Given the description of an element on the screen output the (x, y) to click on. 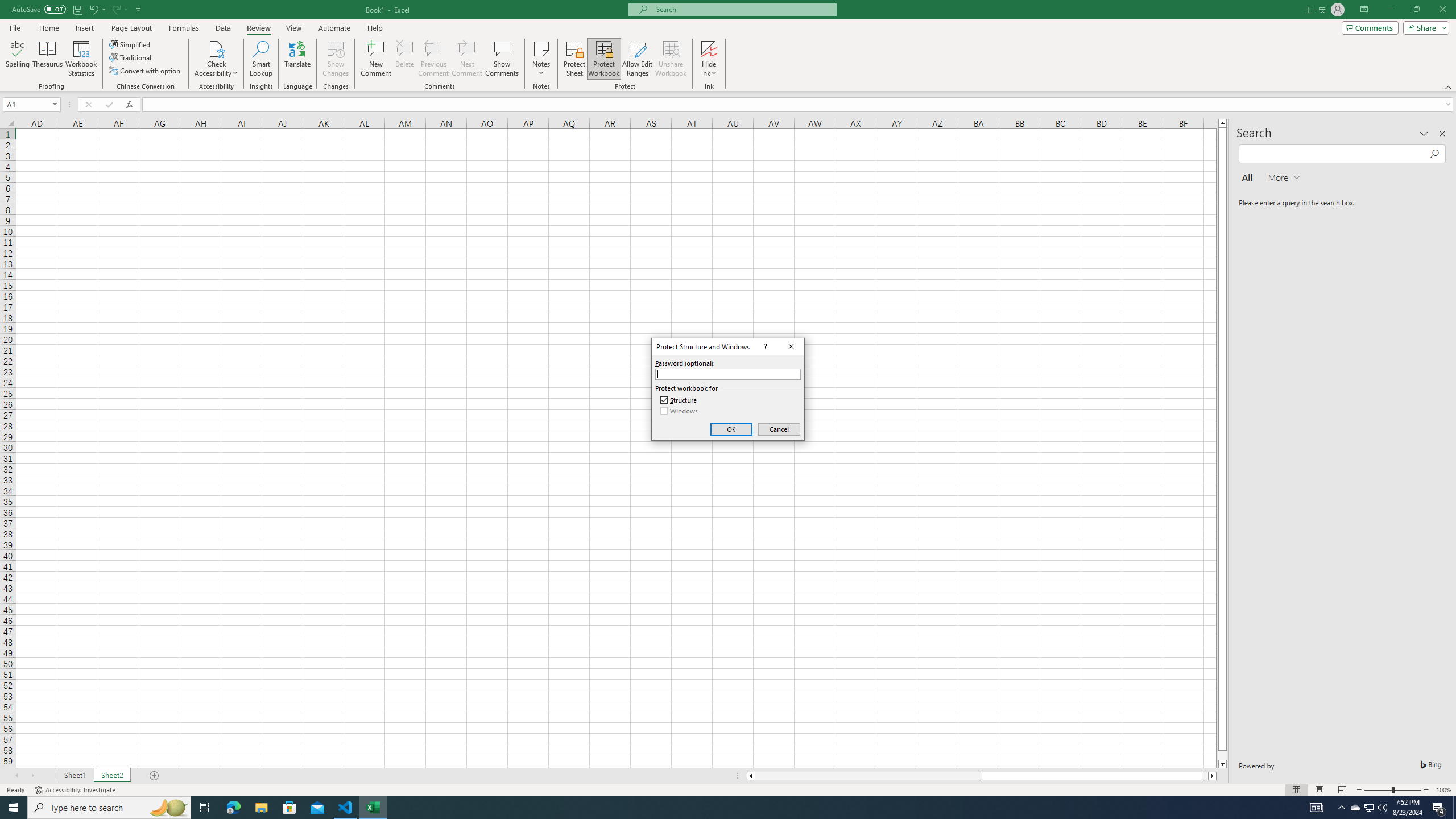
Page down (1222, 755)
Microsoft search (742, 9)
Notification Chevron (1341, 807)
Protect Workbook... (603, 58)
Action Center, 4 new notifications (1439, 807)
Previous Comment (432, 58)
Convert with option (145, 69)
Automate (334, 28)
